Given the description of an element on the screen output the (x, y) to click on. 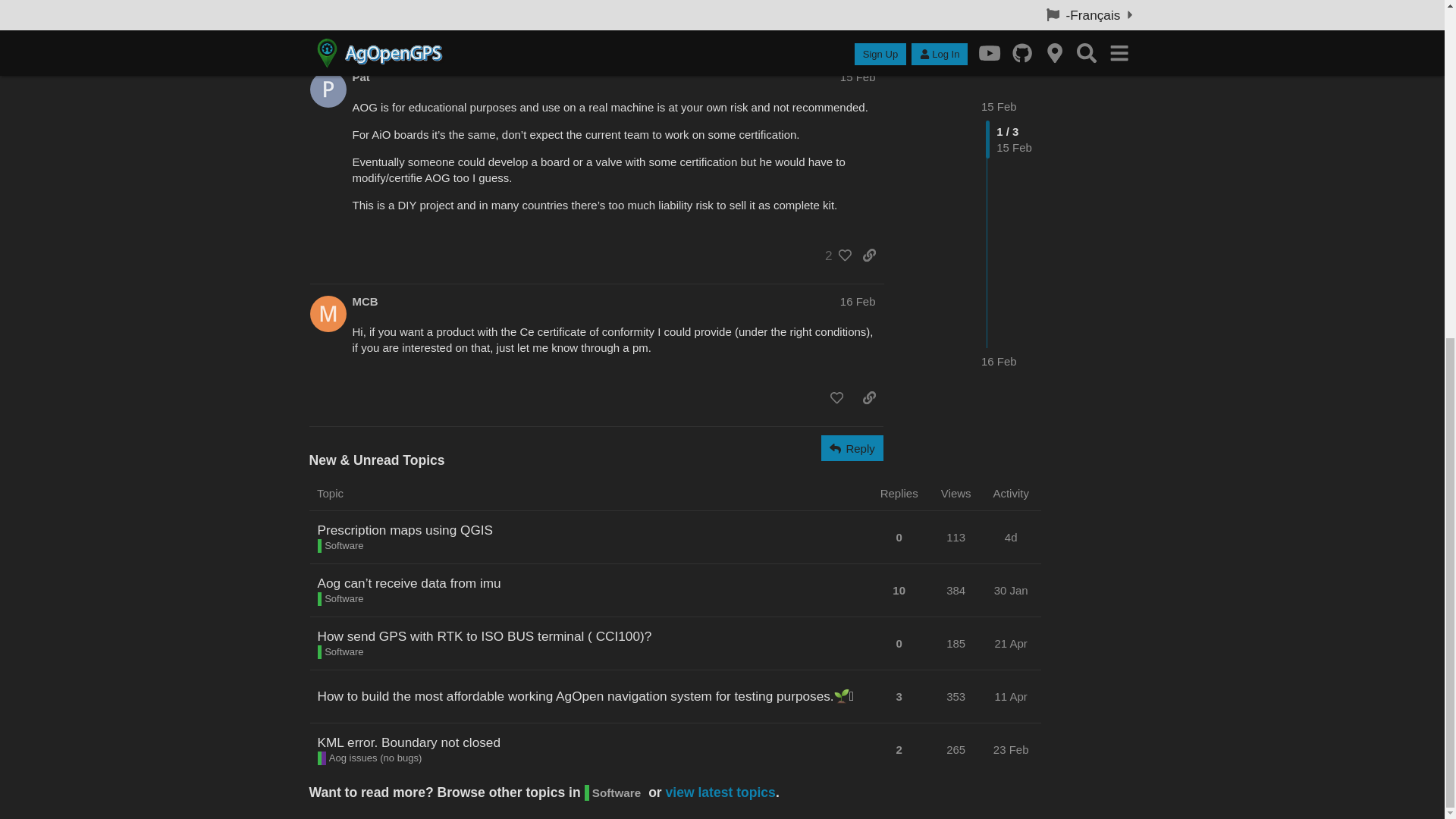
16 Feb (998, 32)
